Given the description of an element on the screen output the (x, y) to click on. 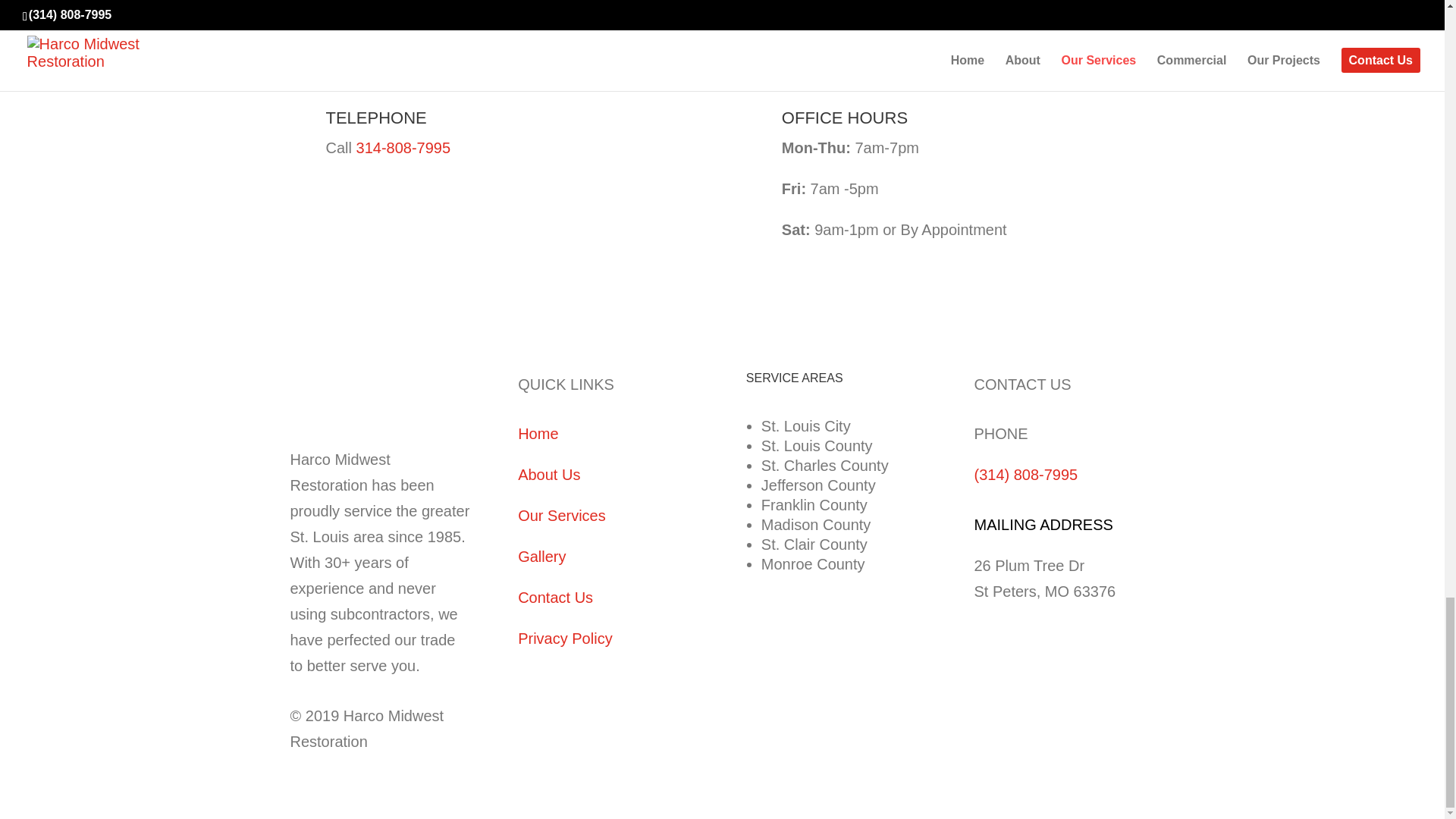
Home (537, 433)
314-808-7995 (403, 147)
Contact Us (555, 597)
Phone (403, 147)
Gallery (542, 556)
About Us (548, 474)
Our Services (561, 515)
Privacy Policy (564, 638)
